Given the description of an element on the screen output the (x, y) to click on. 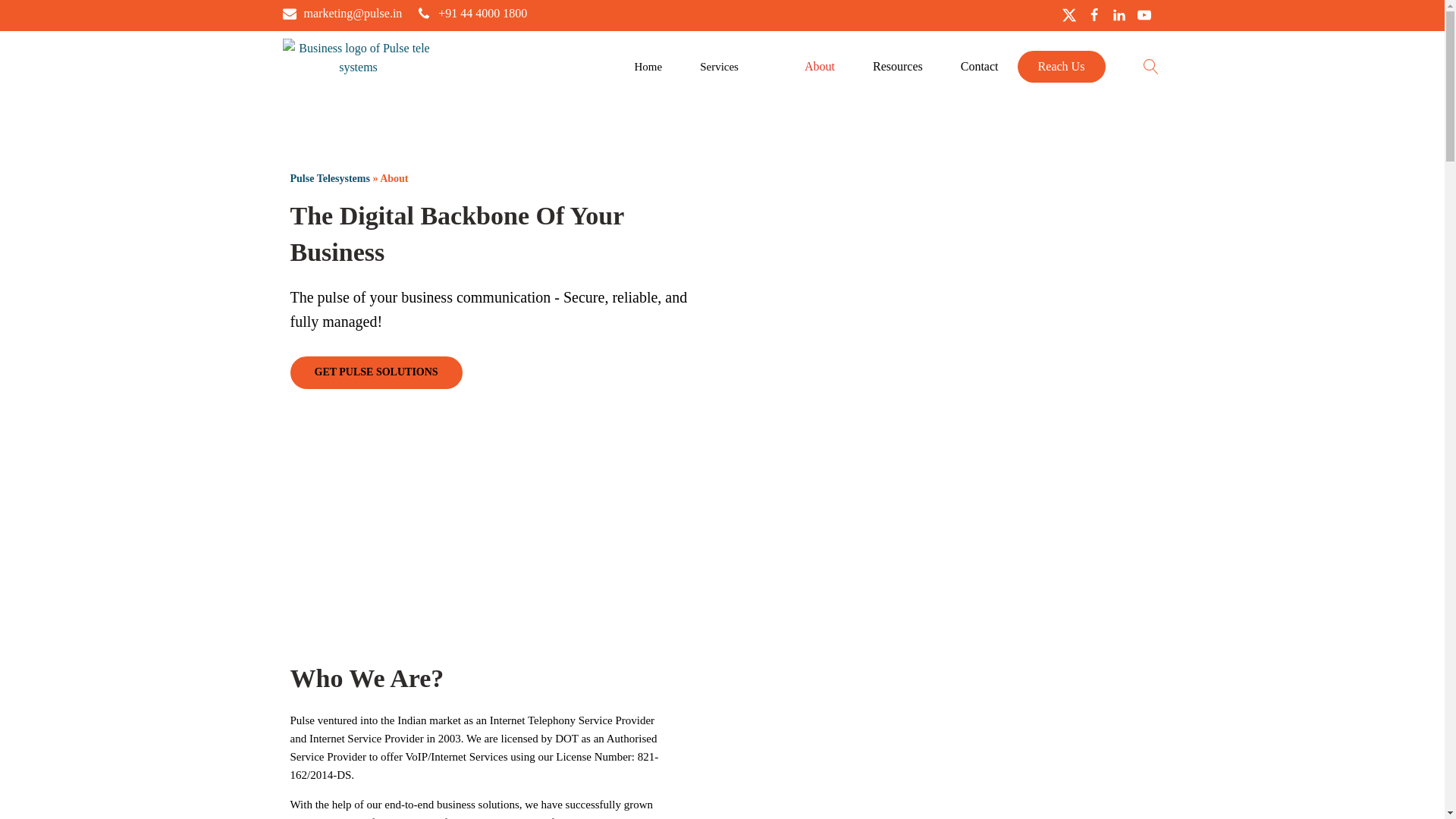
Contact (979, 66)
Resources (897, 66)
Reach Us (1061, 66)
About (819, 66)
Pulse Telesystems (842, 216)
Home (647, 66)
Pulse Tele Communications (798, 716)
